Given the description of an element on the screen output the (x, y) to click on. 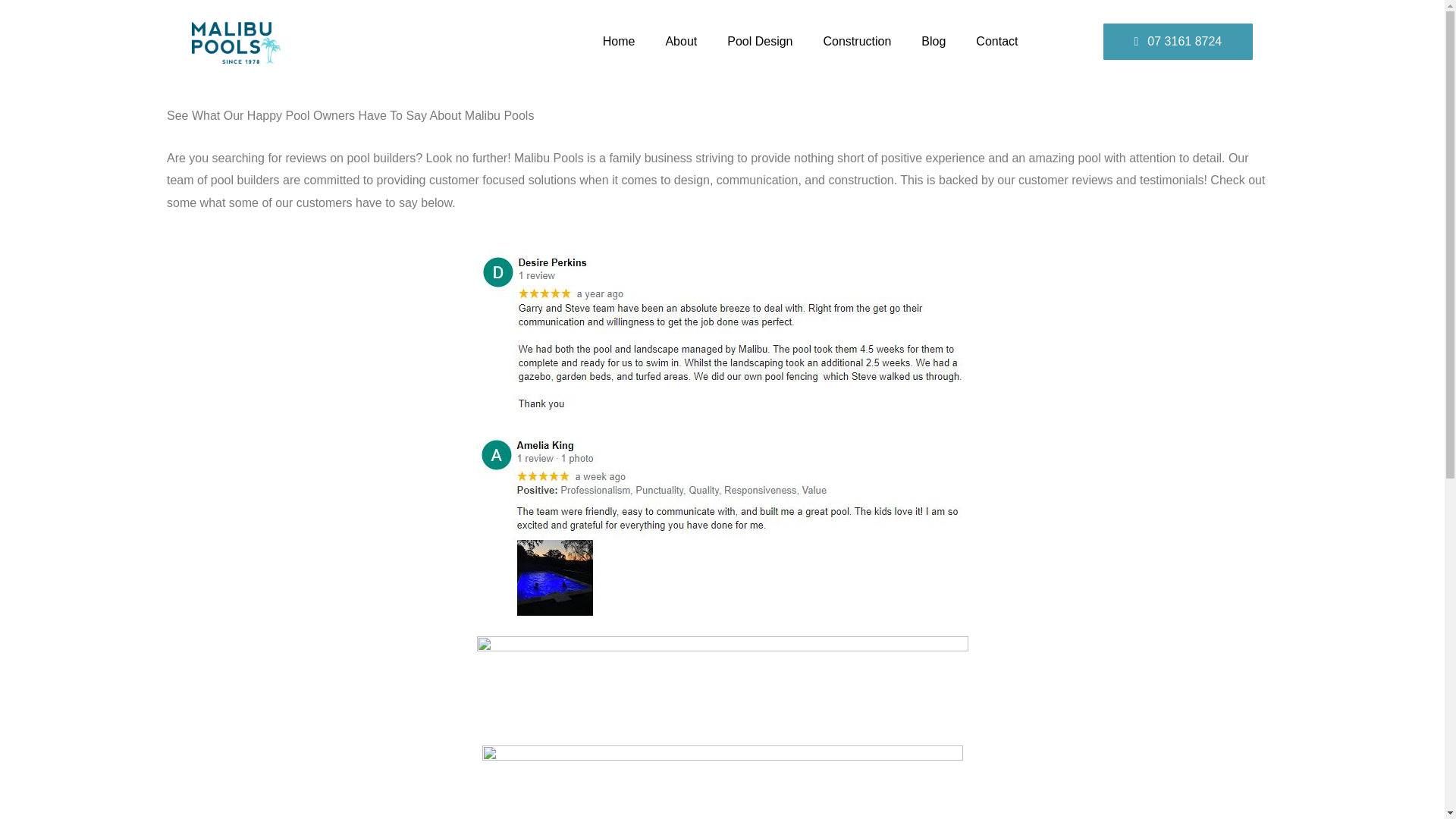
Home (619, 41)
Contact (996, 41)
Blog (932, 41)
Construction (857, 41)
07 3161 8724 (1178, 41)
Pool Design (759, 41)
About (680, 41)
